Given the description of an element on the screen output the (x, y) to click on. 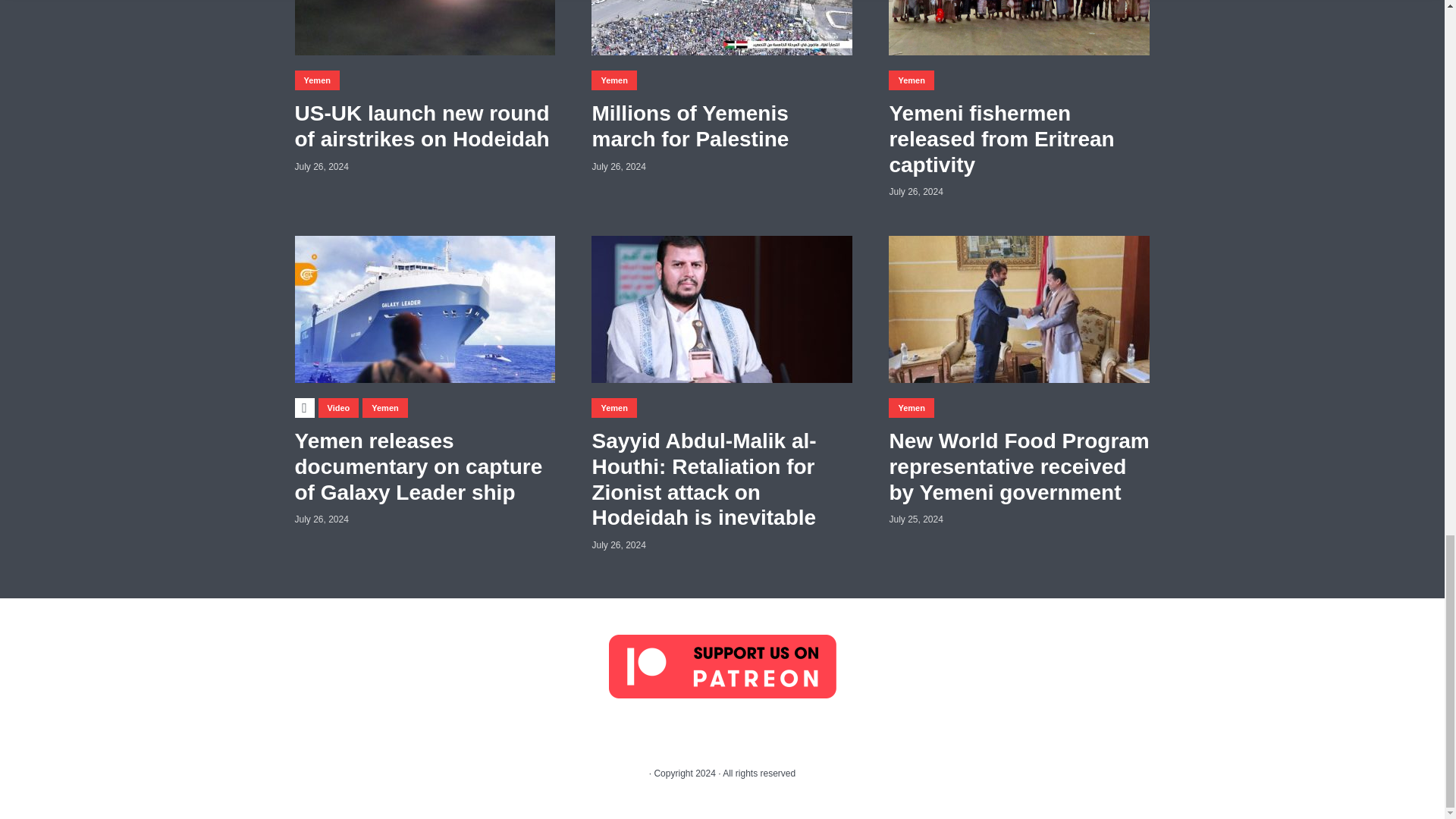
Yemen (316, 80)
